Given the description of an element on the screen output the (x, y) to click on. 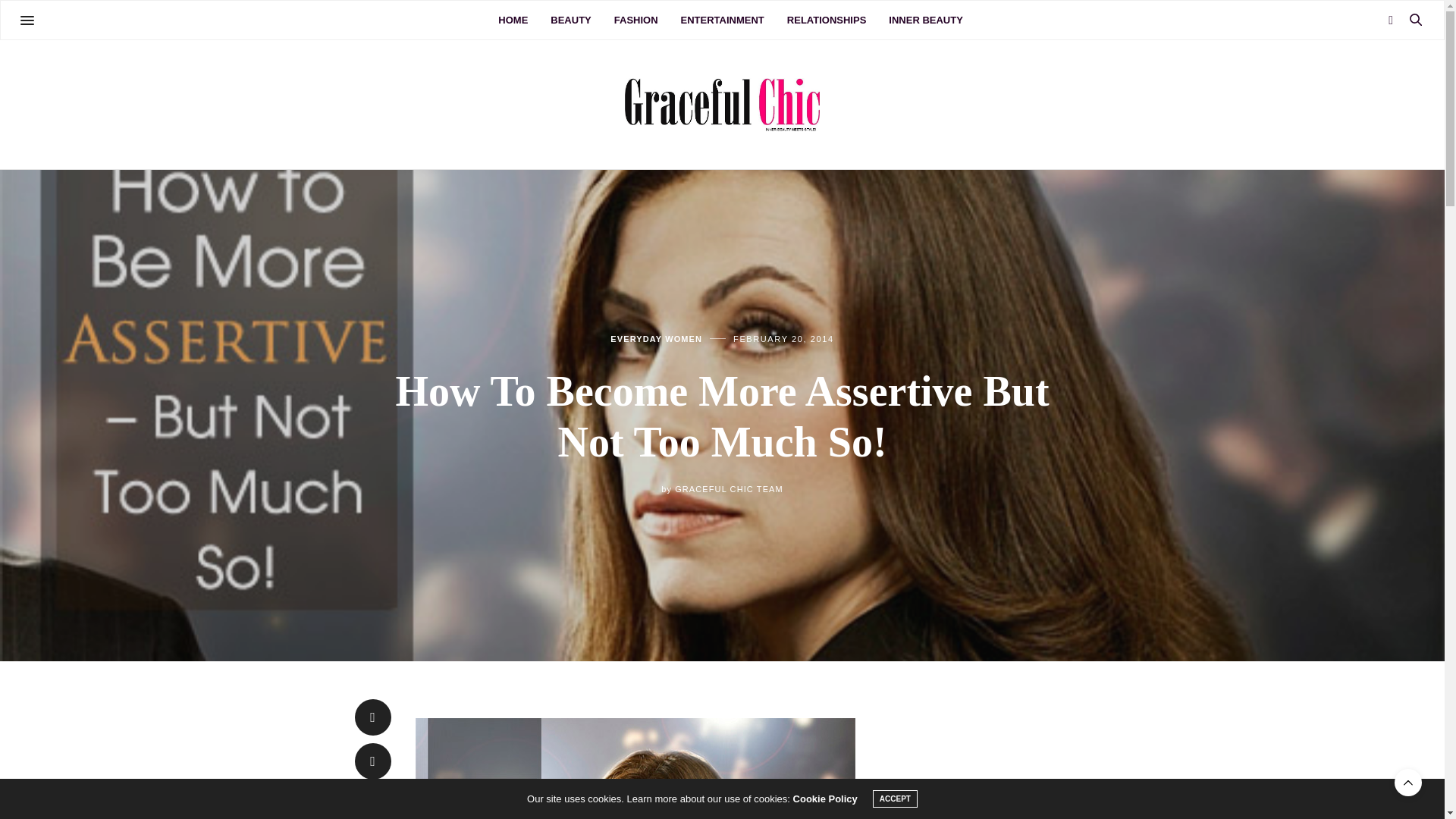
FASHION (636, 19)
RELATIONSHIPS (826, 19)
EVERYDAY WOMEN (655, 338)
Graceful Chic (721, 104)
GRACEFUL CHIC TEAM (729, 488)
INNER BEAUTY (925, 19)
ENTERTAINMENT (722, 19)
Posts by Graceful Chic Team (729, 488)
BEAUTY (570, 19)
Scroll To Top (1408, 782)
